Given the description of an element on the screen output the (x, y) to click on. 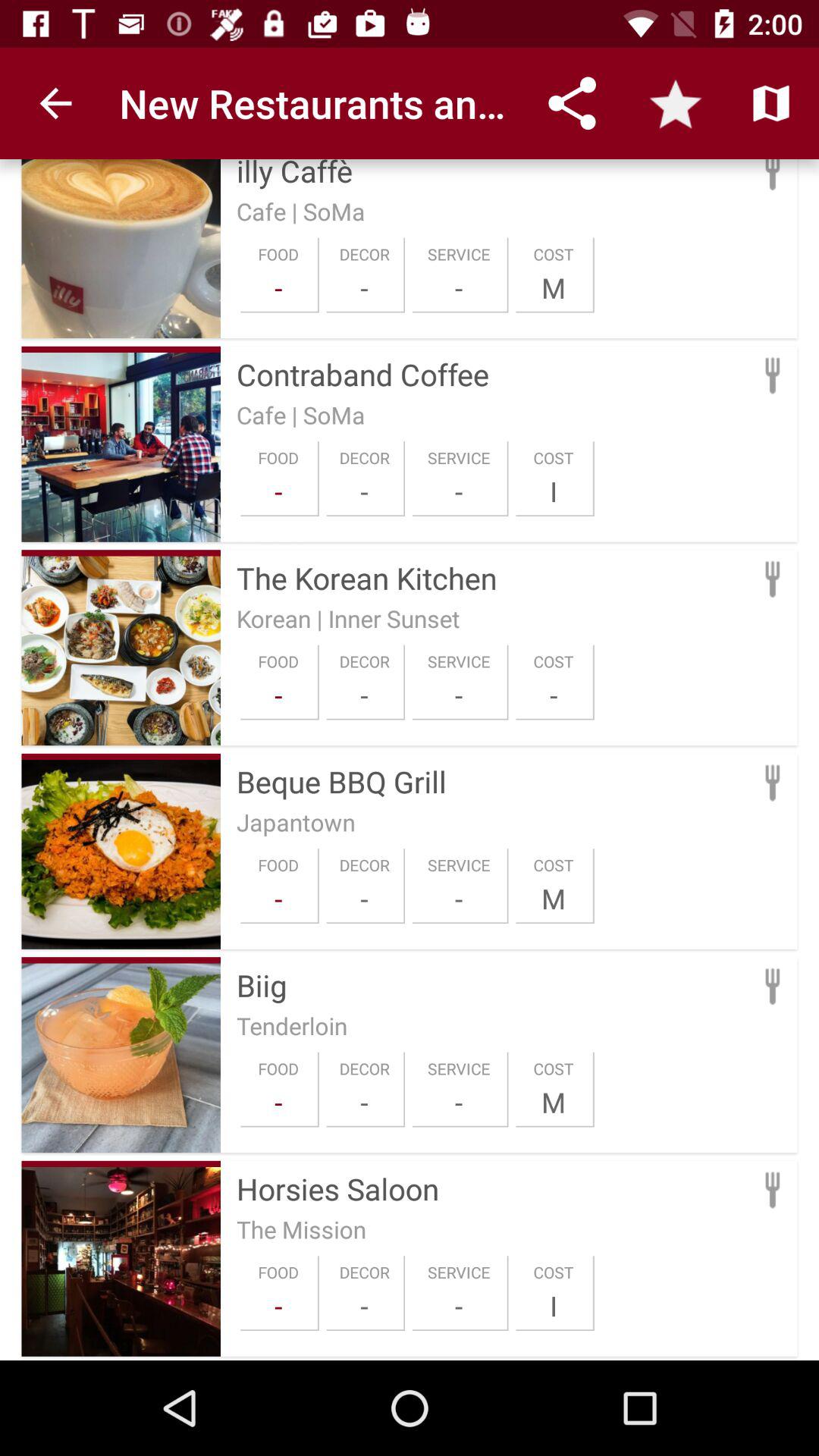
click the item next to decor (278, 1102)
